Given the description of an element on the screen output the (x, y) to click on. 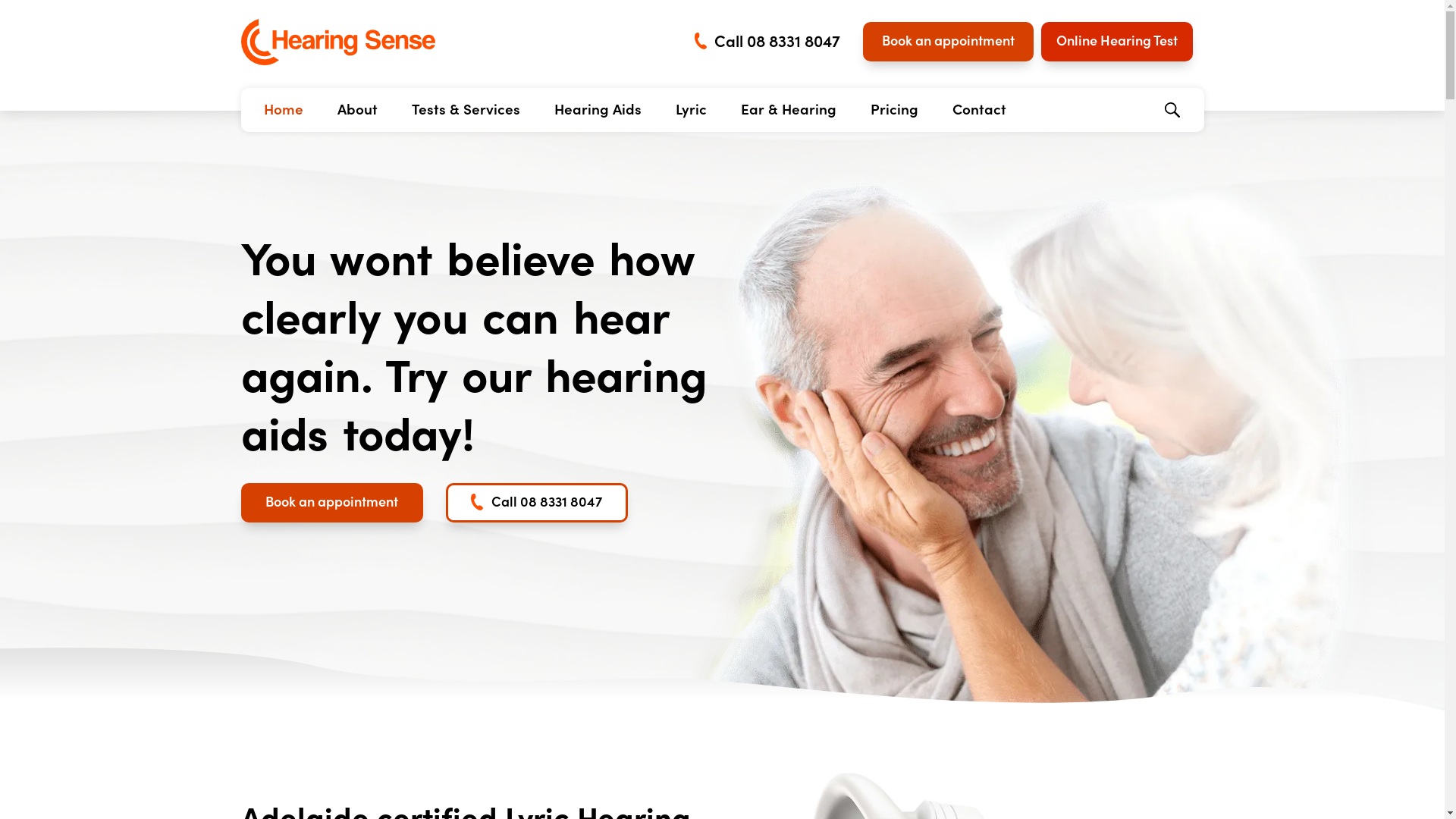
Online Hearing Test Element type: text (1116, 41)
Hearing Aids Element type: text (596, 108)
Call 08 8331 8047 Element type: text (767, 41)
Tests & Services Element type: text (465, 108)
Contact Element type: text (979, 108)
About Element type: text (356, 108)
Call 08 8331 8047 Element type: text (536, 502)
Book an appointment Element type: text (332, 502)
Pricing Element type: text (894, 108)
Lyric Element type: text (690, 108)
Ear & Hearing Element type: text (787, 108)
Home Element type: text (283, 108)
Book an appointment Element type: text (947, 41)
